Given the description of an element on the screen output the (x, y) to click on. 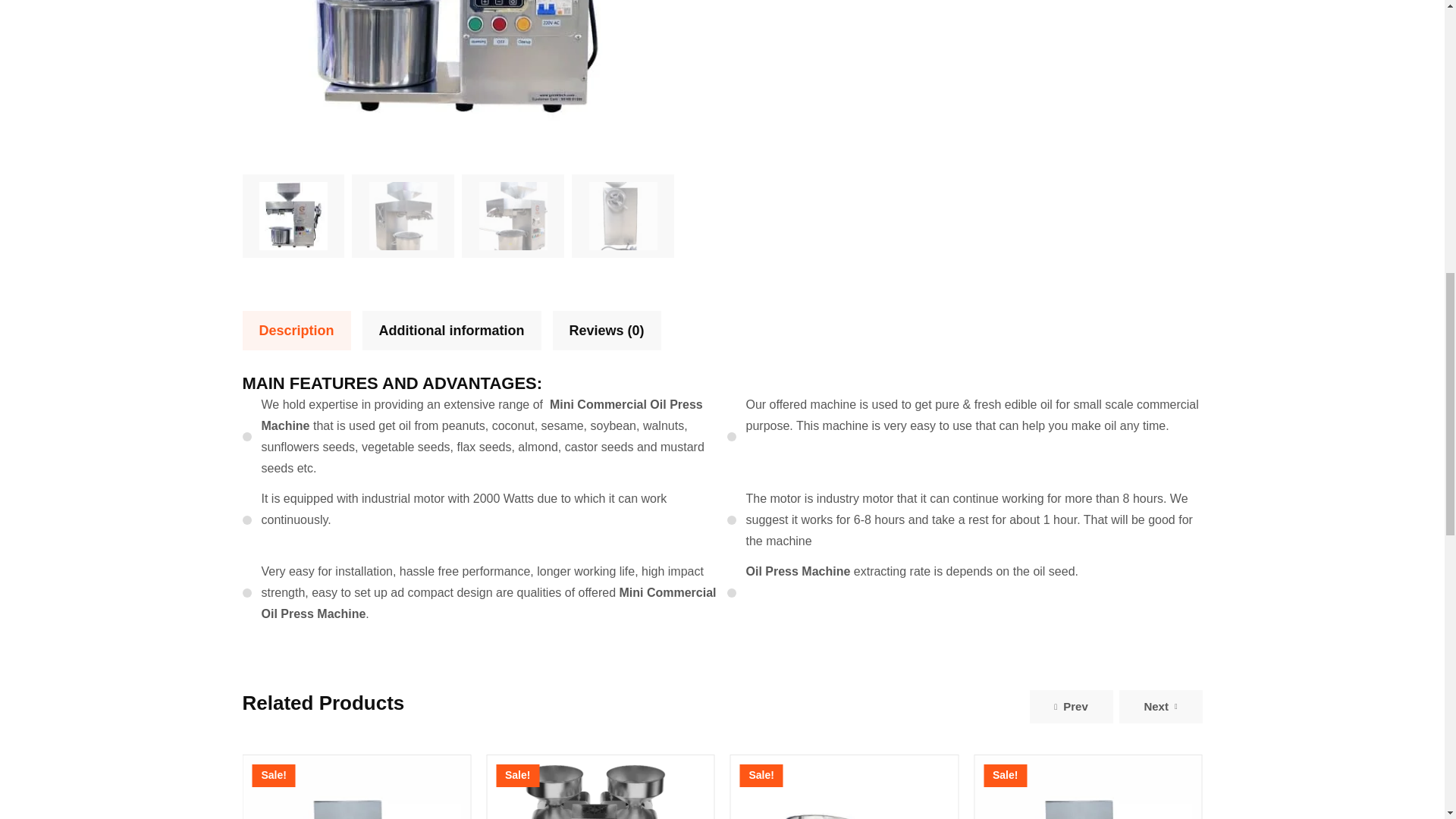
GTO-101 S (459, 83)
